Given the description of an element on the screen output the (x, y) to click on. 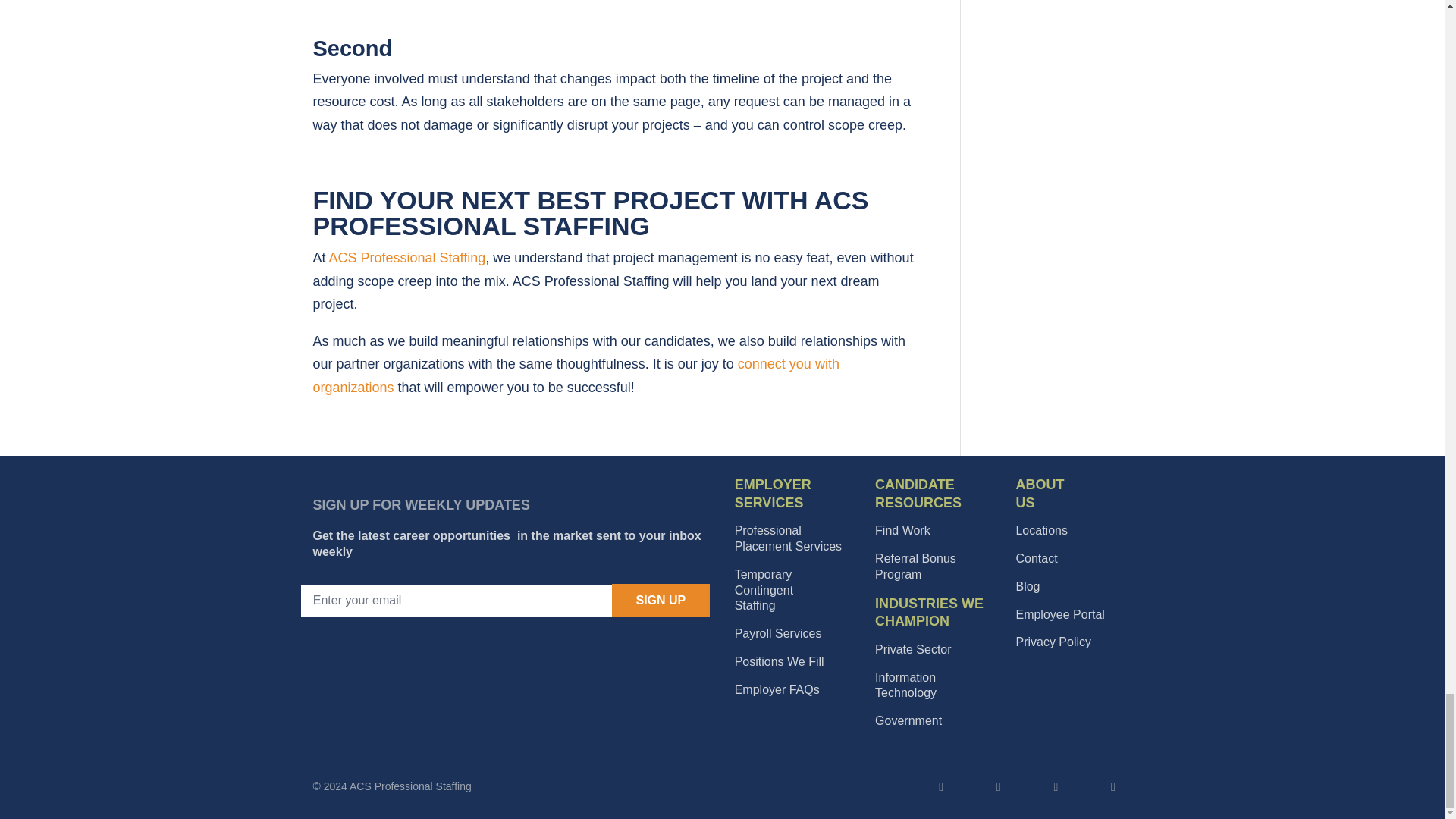
Employer FAQs (772, 492)
ACS Professional Staffing (777, 689)
SIGN UP (788, 538)
CANDIDATE RESOURCES (407, 257)
Find Work (660, 599)
Payroll Services (917, 492)
connect you with organizations (902, 530)
Positions We Fill (778, 633)
